Given the description of an element on the screen output the (x, y) to click on. 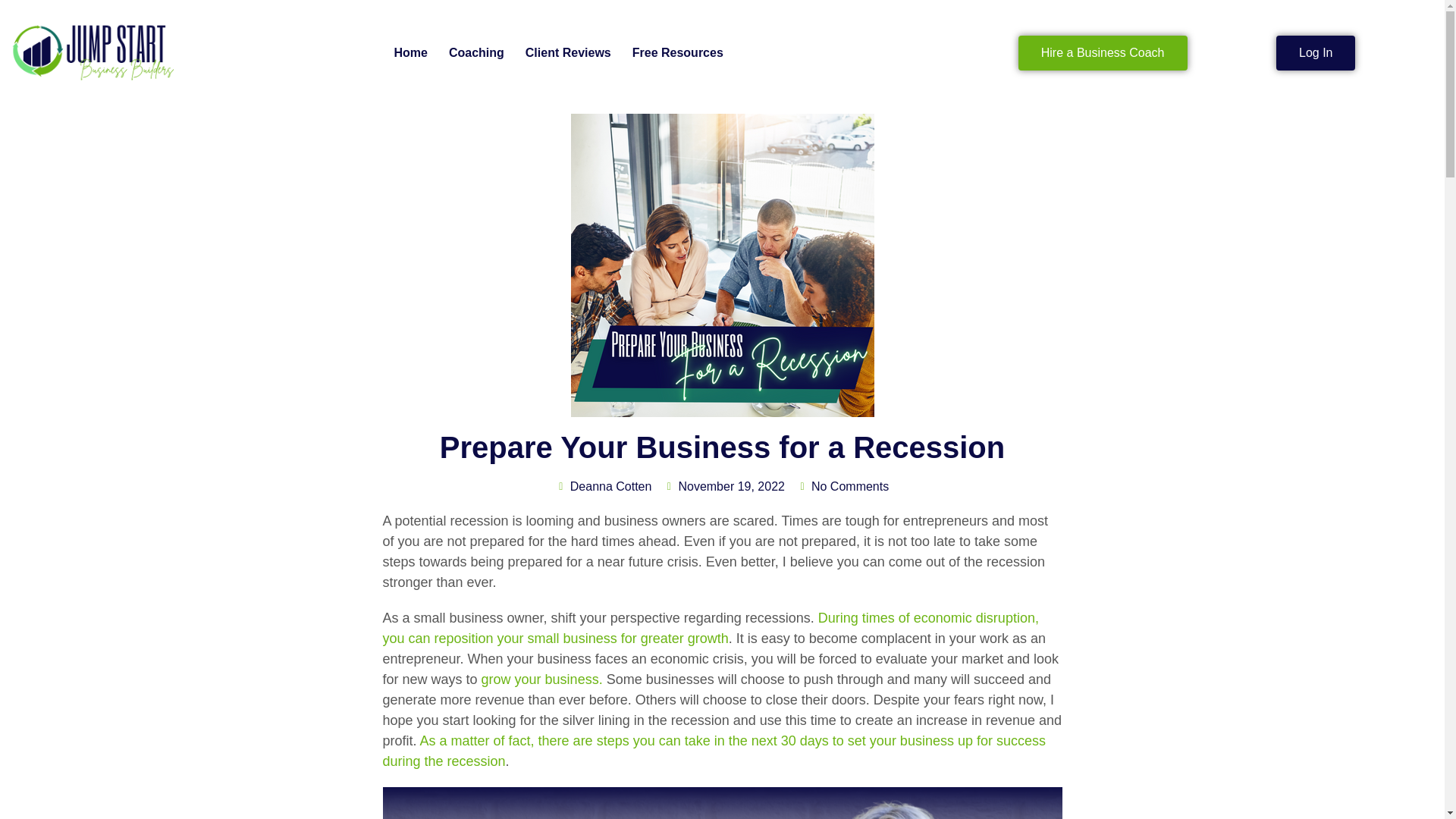
Client Reviews (568, 53)
Hire a Business Coach (1102, 53)
Log In (1315, 53)
Deanna Cotten (604, 486)
Free Resources (677, 53)
Coaching (476, 53)
No Comments (842, 486)
Home (410, 53)
